Given the description of an element on the screen output the (x, y) to click on. 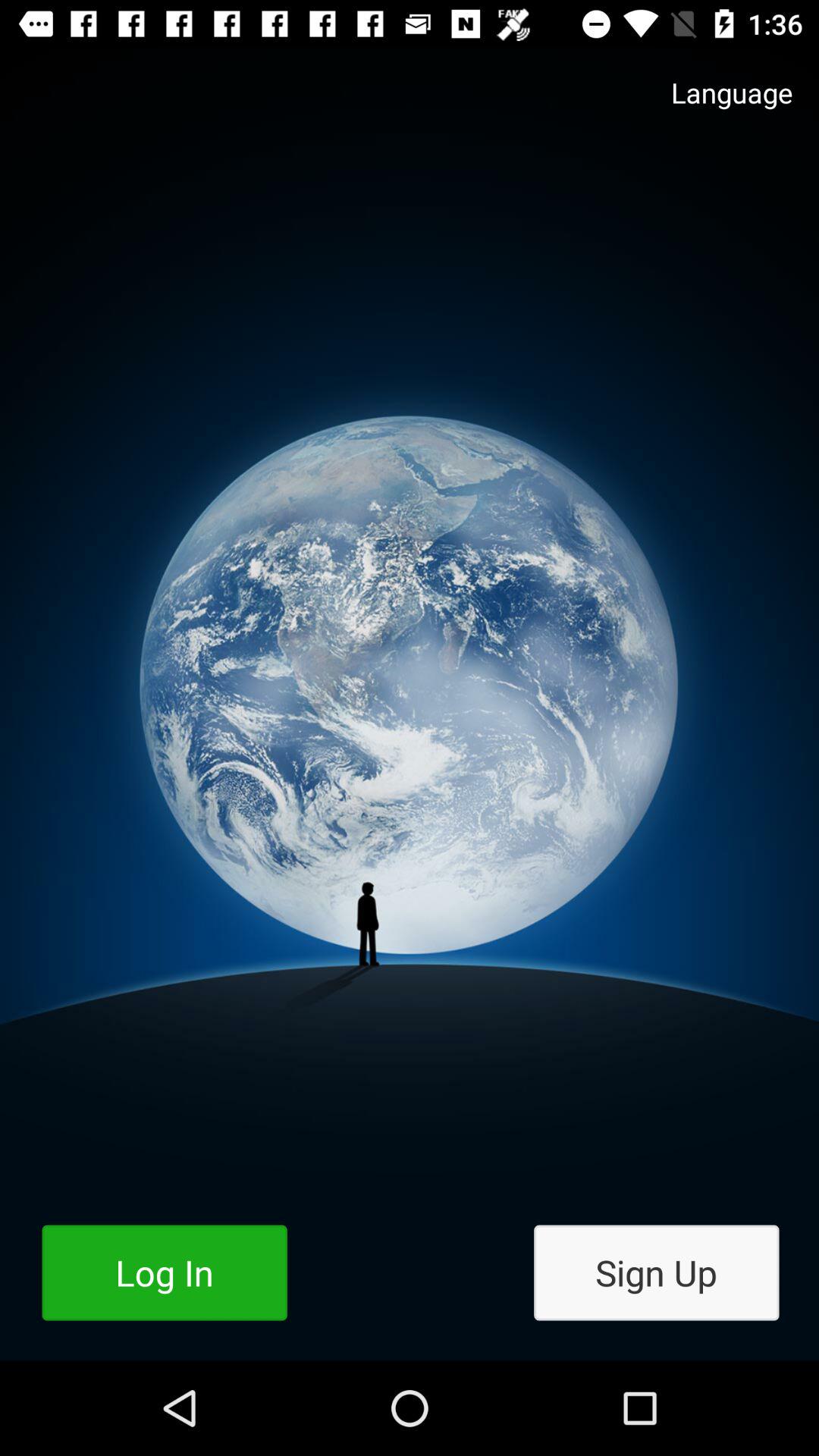
tap icon below language item (656, 1272)
